Given the description of an element on the screen output the (x, y) to click on. 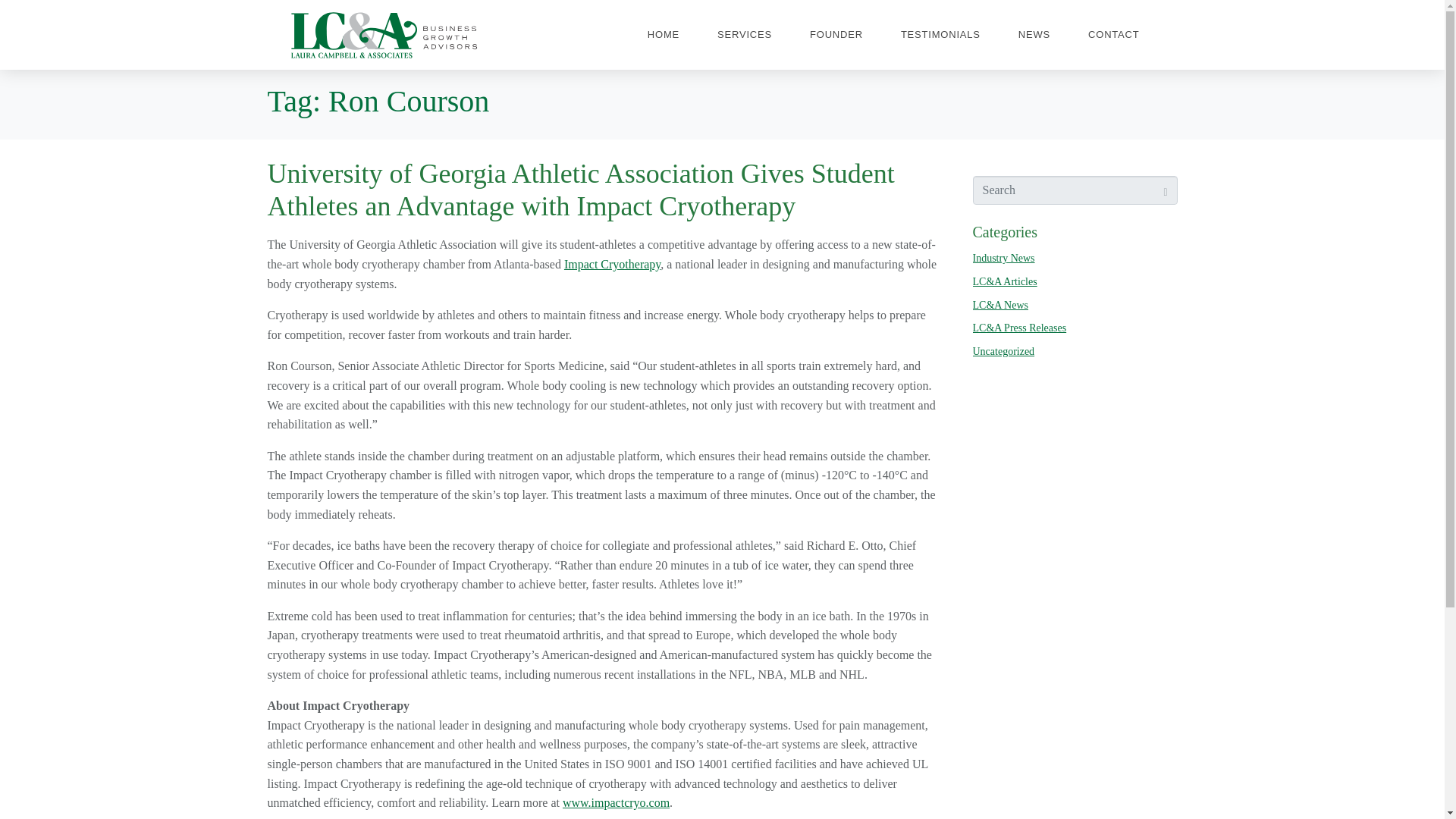
www.impactcryo.com (615, 802)
Industry News (1002, 257)
SERVICES (744, 34)
HOME (662, 34)
NEWS (1034, 34)
CONTACT (1113, 34)
Impact Cryotherapy (612, 264)
TESTIMONIALS (940, 34)
Uncategorized (1002, 351)
FOUNDER (835, 34)
